Given the description of an element on the screen output the (x, y) to click on. 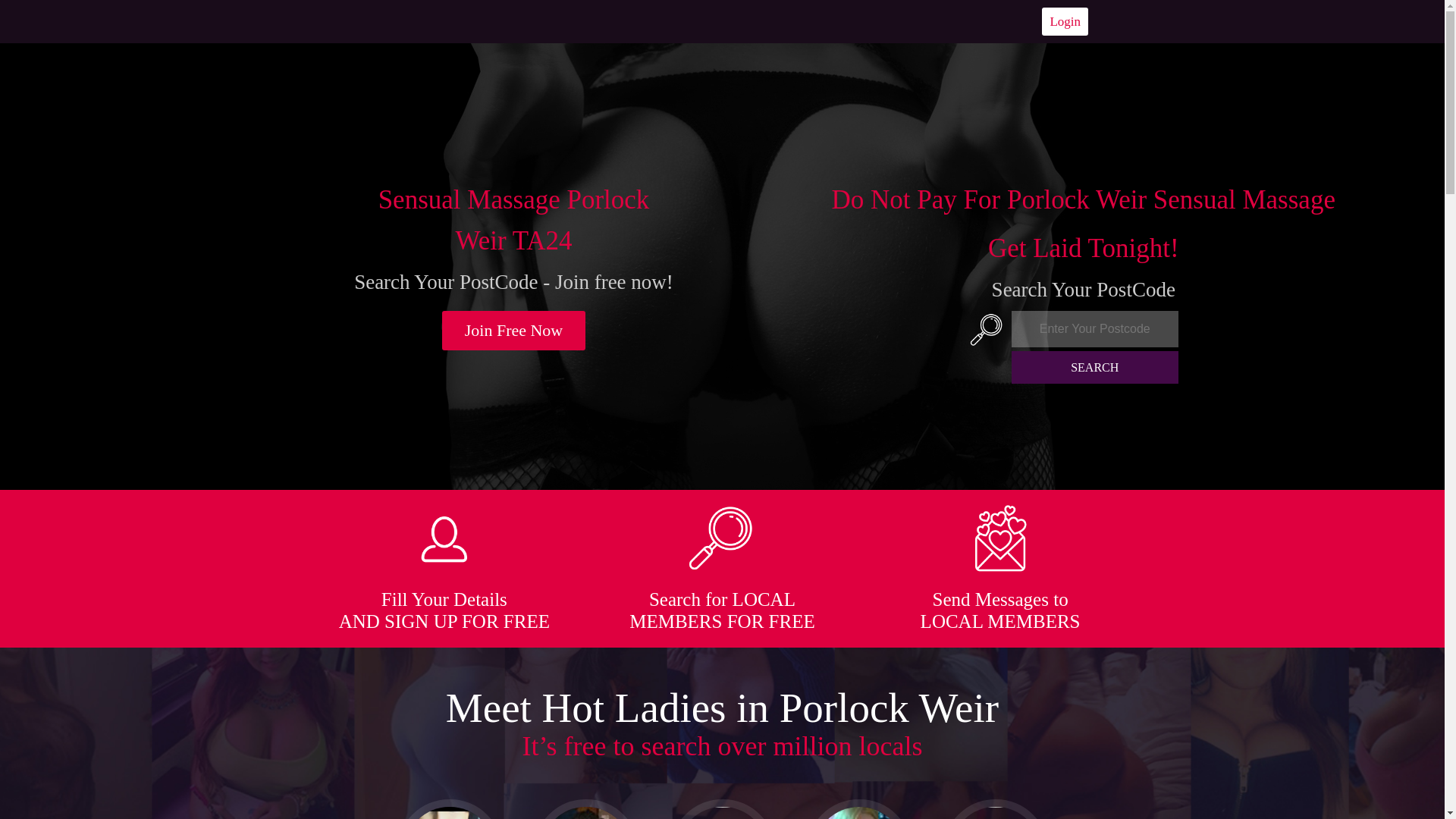
Join Free Now (514, 330)
Login (1064, 21)
Join (514, 330)
SEARCH (1094, 367)
Login (1064, 21)
